Given the description of an element on the screen output the (x, y) to click on. 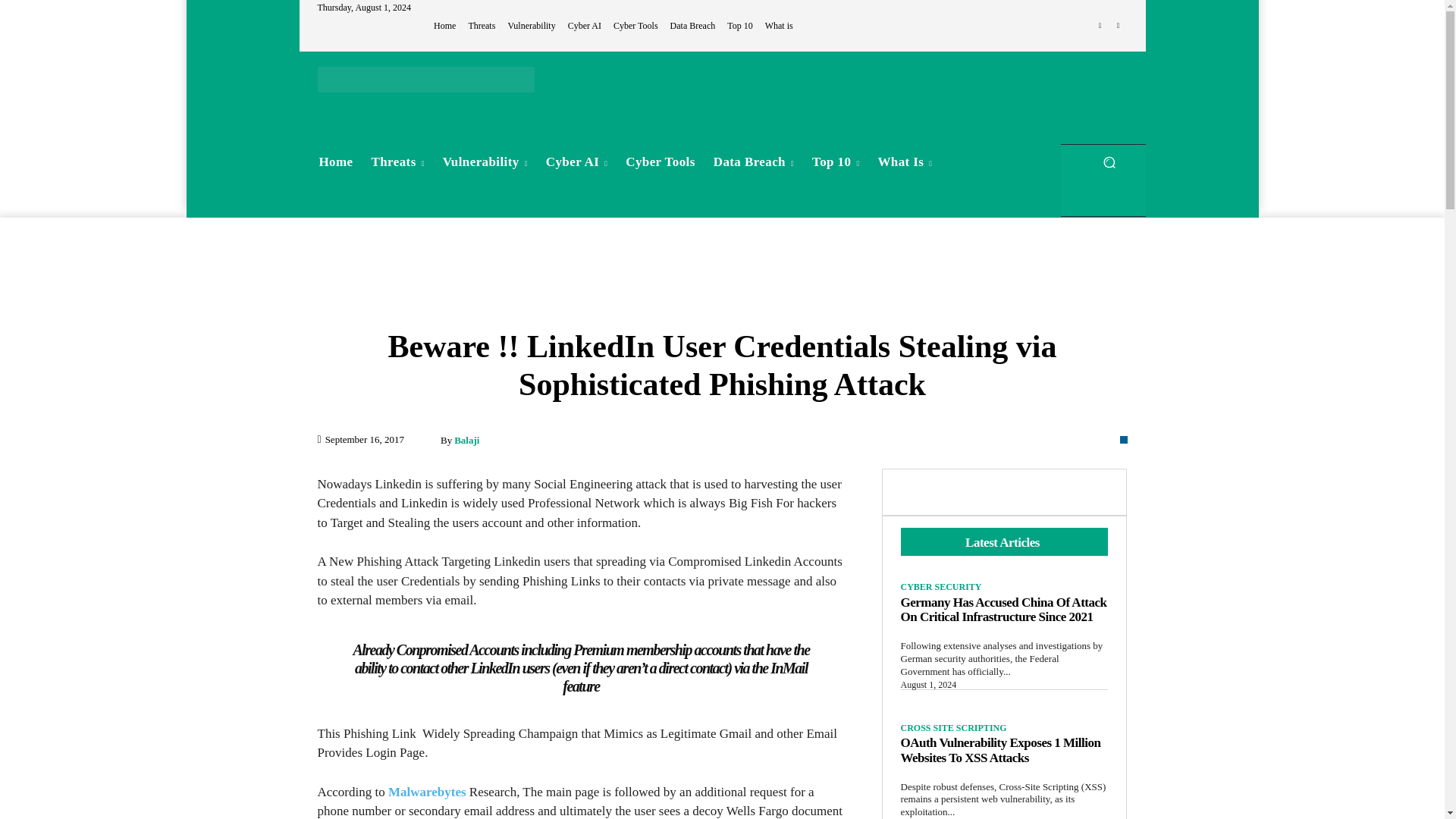
Cyber Tools (635, 25)
Twitter (1117, 25)
Top 10 (739, 25)
Cyber AI (584, 25)
Data Breach (692, 25)
Threats (481, 25)
Vulnerability (530, 25)
Threats (397, 162)
Linkedin (1099, 25)
Home (444, 25)
What is (779, 25)
Home (334, 162)
